Given the description of an element on the screen output the (x, y) to click on. 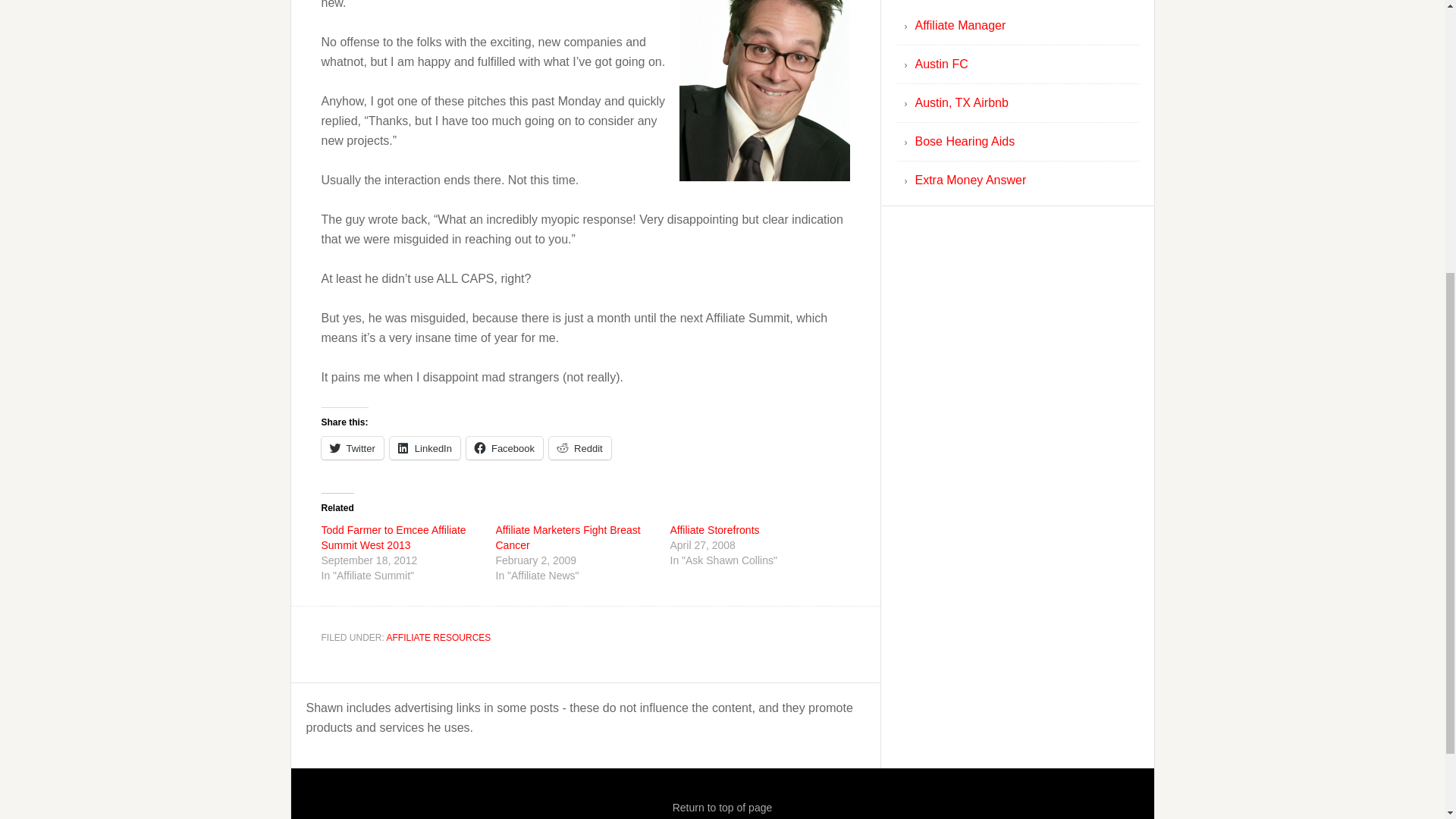
Click to share on Twitter (352, 447)
Twitter (352, 447)
Click to share on LinkedIn (425, 447)
Affiliate Marketers Fight Breast Cancer (568, 537)
Affiliate Marketers Fight Breast Cancer (568, 537)
Bose Hearing Aids (964, 141)
Return to top of page (722, 807)
Facebook (504, 447)
Austin FC (941, 63)
Click to share on Reddit (579, 447)
